Given the description of an element on the screen output the (x, y) to click on. 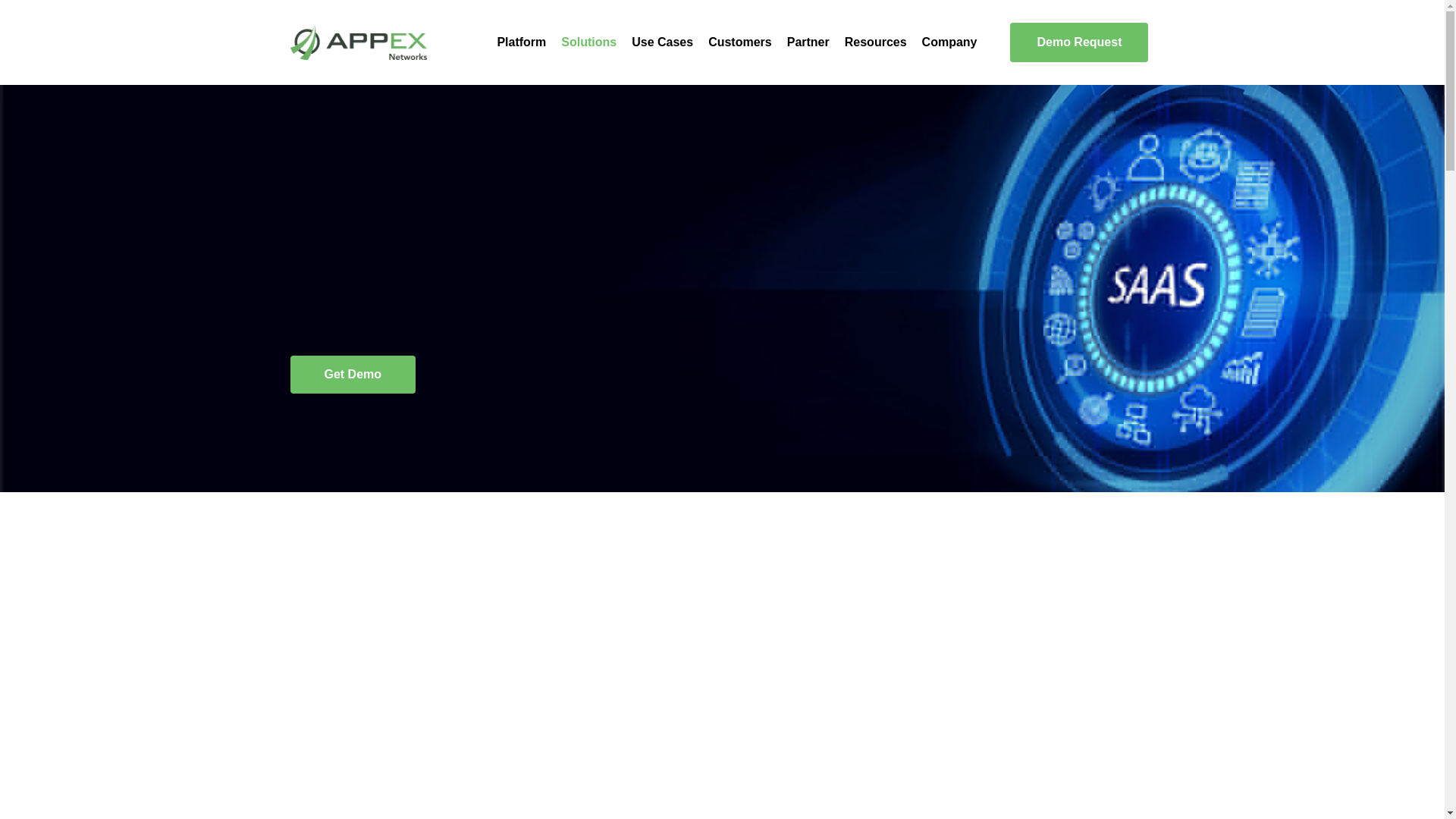
Partner (807, 42)
Resources (875, 42)
Customers (739, 42)
Platform (521, 42)
Use Cases (662, 42)
Solutions (588, 42)
Demo Request (1079, 42)
Company (949, 42)
Get Demo (351, 374)
